Given the description of an element on the screen output the (x, y) to click on. 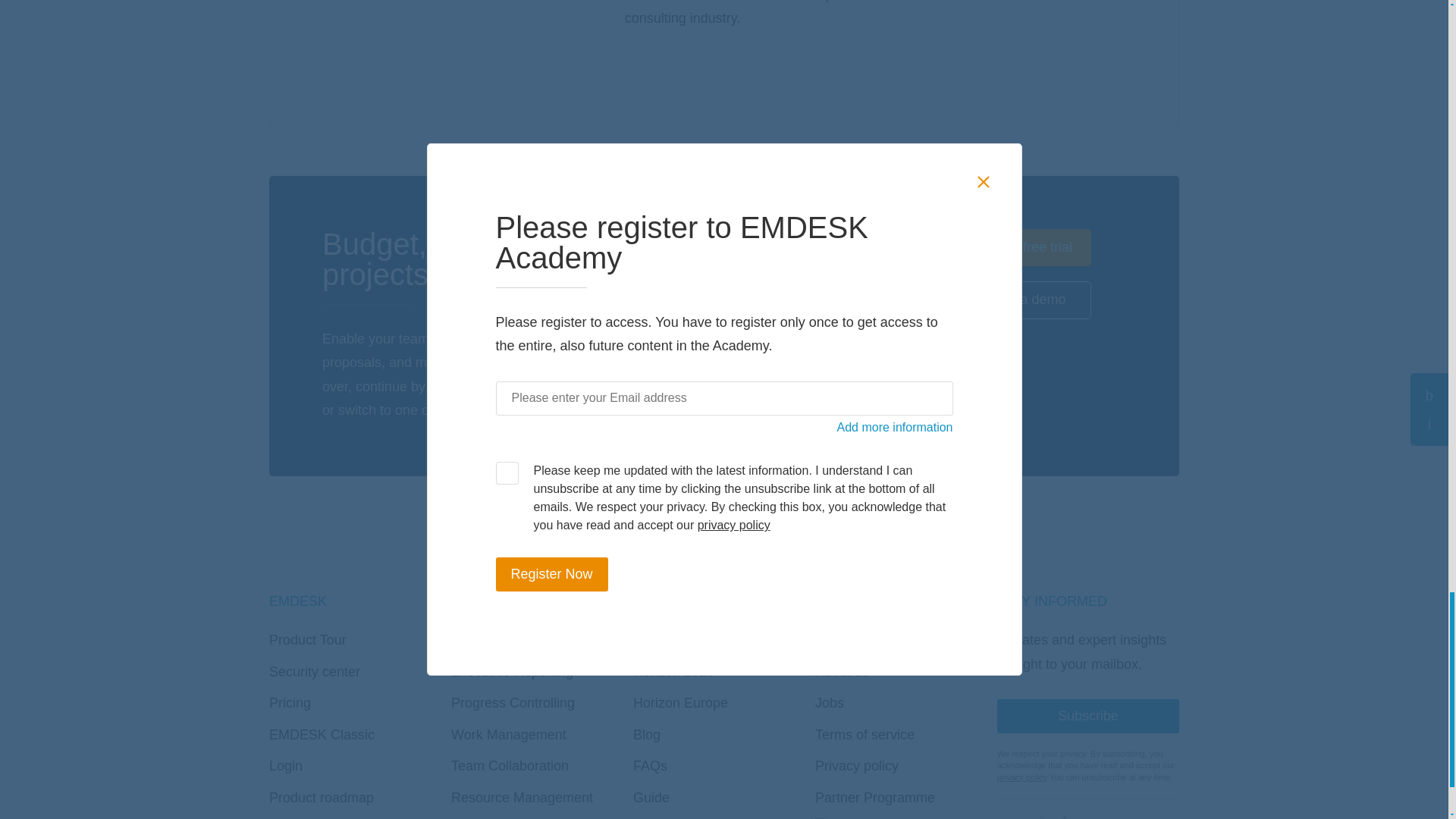
Product Tour (307, 639)
Book a demo (1024, 300)
Security center (314, 671)
Start a free trial (1024, 247)
